Given the description of an element on the screen output the (x, y) to click on. 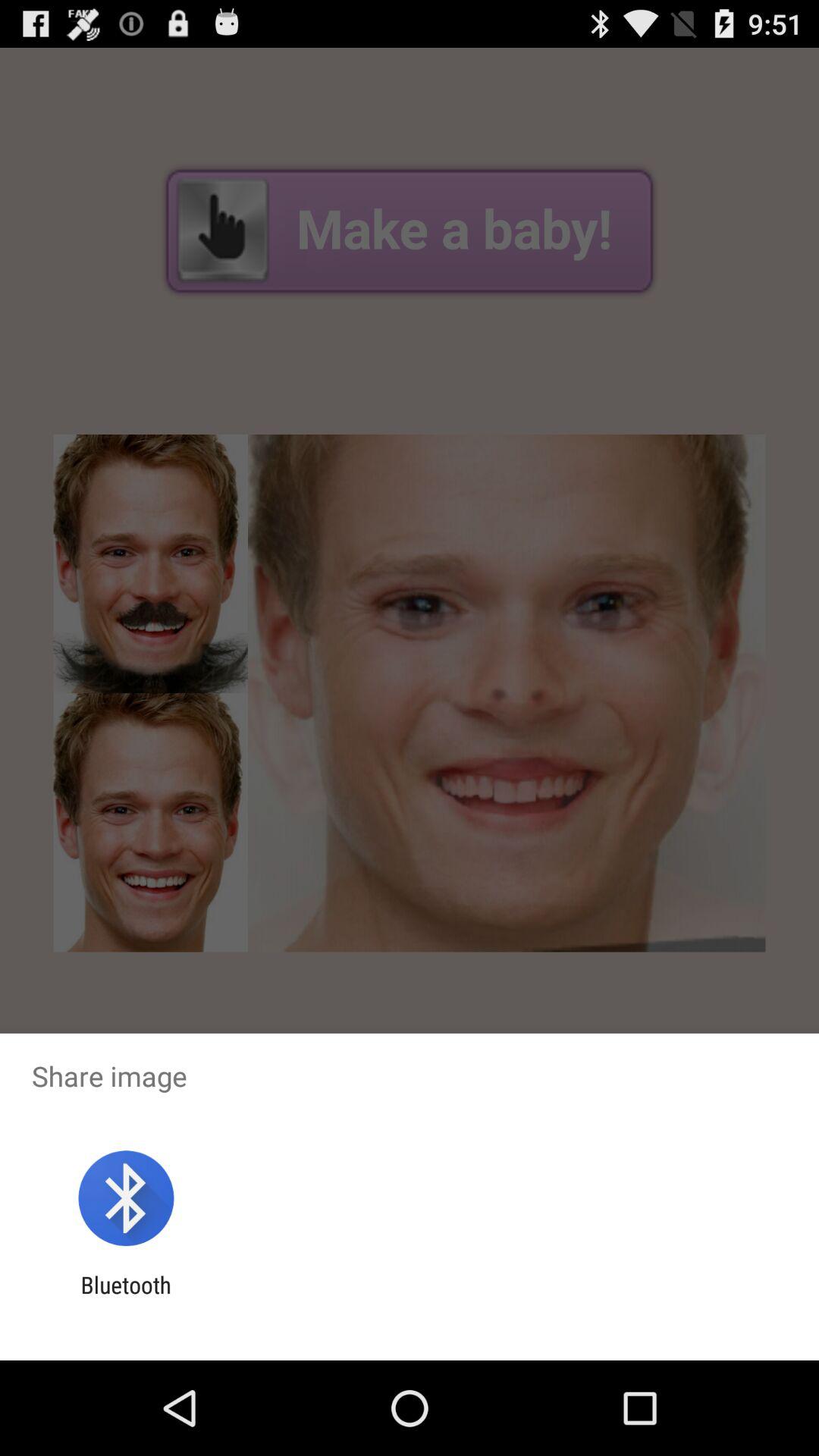
tap app above bluetooth (126, 1198)
